Given the description of an element on the screen output the (x, y) to click on. 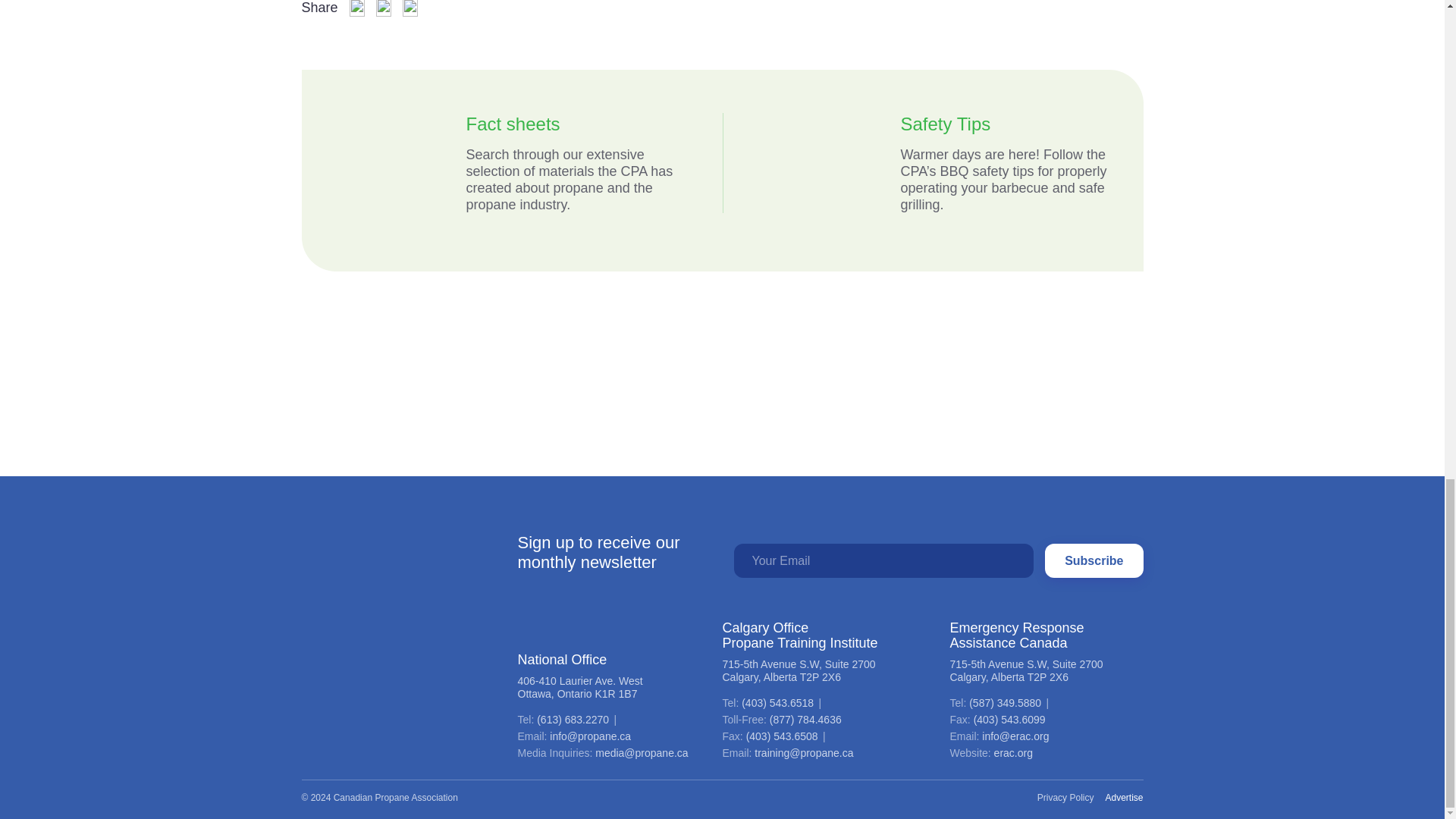
Subscribe (1093, 559)
